Given the description of an element on the screen output the (x, y) to click on. 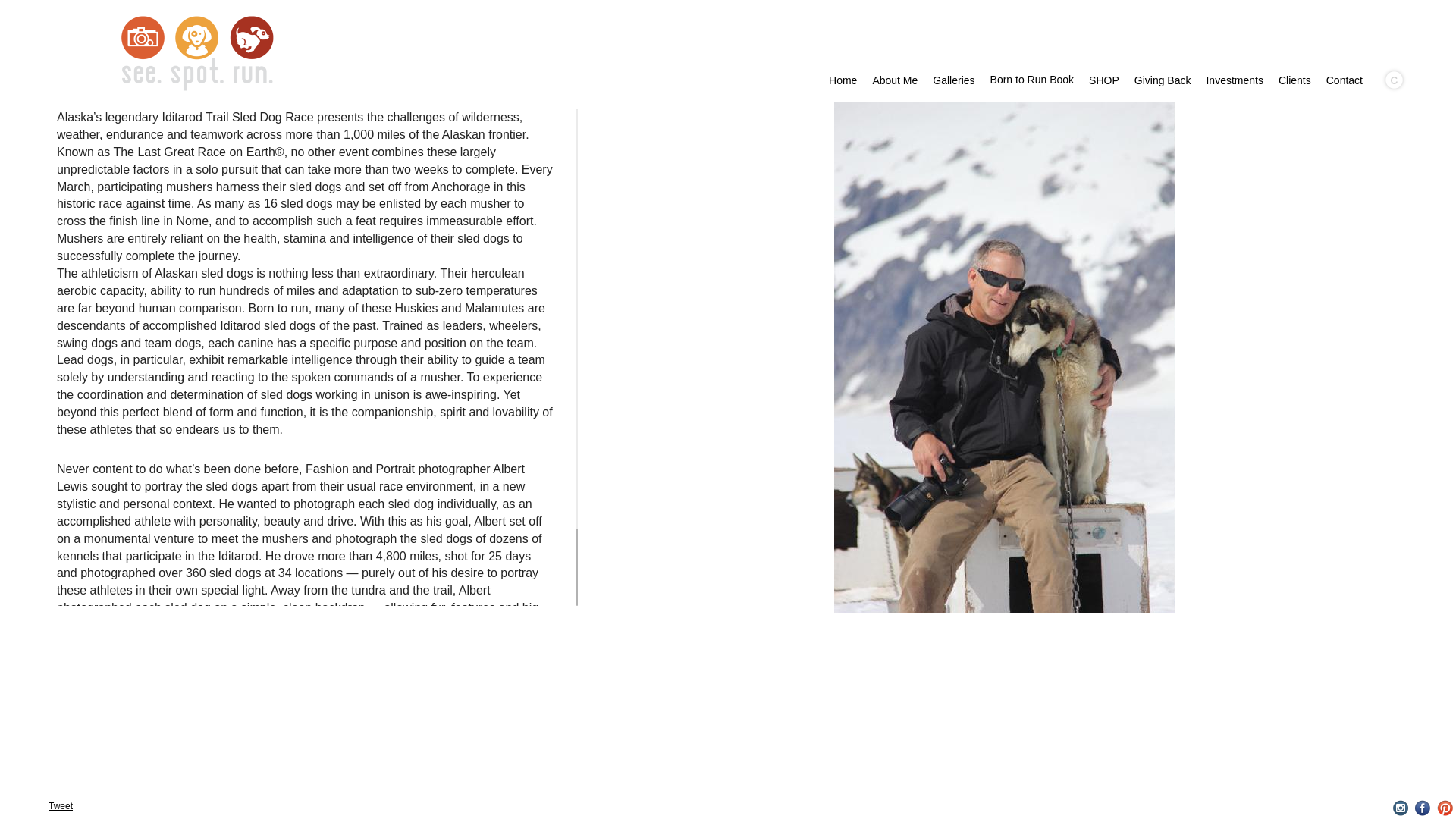
Instagram (1233, 81)
Born to Run Book (1401, 807)
Tweet (1344, 81)
Pinterest (1032, 81)
Facebook (60, 805)
